Given the description of an element on the screen output the (x, y) to click on. 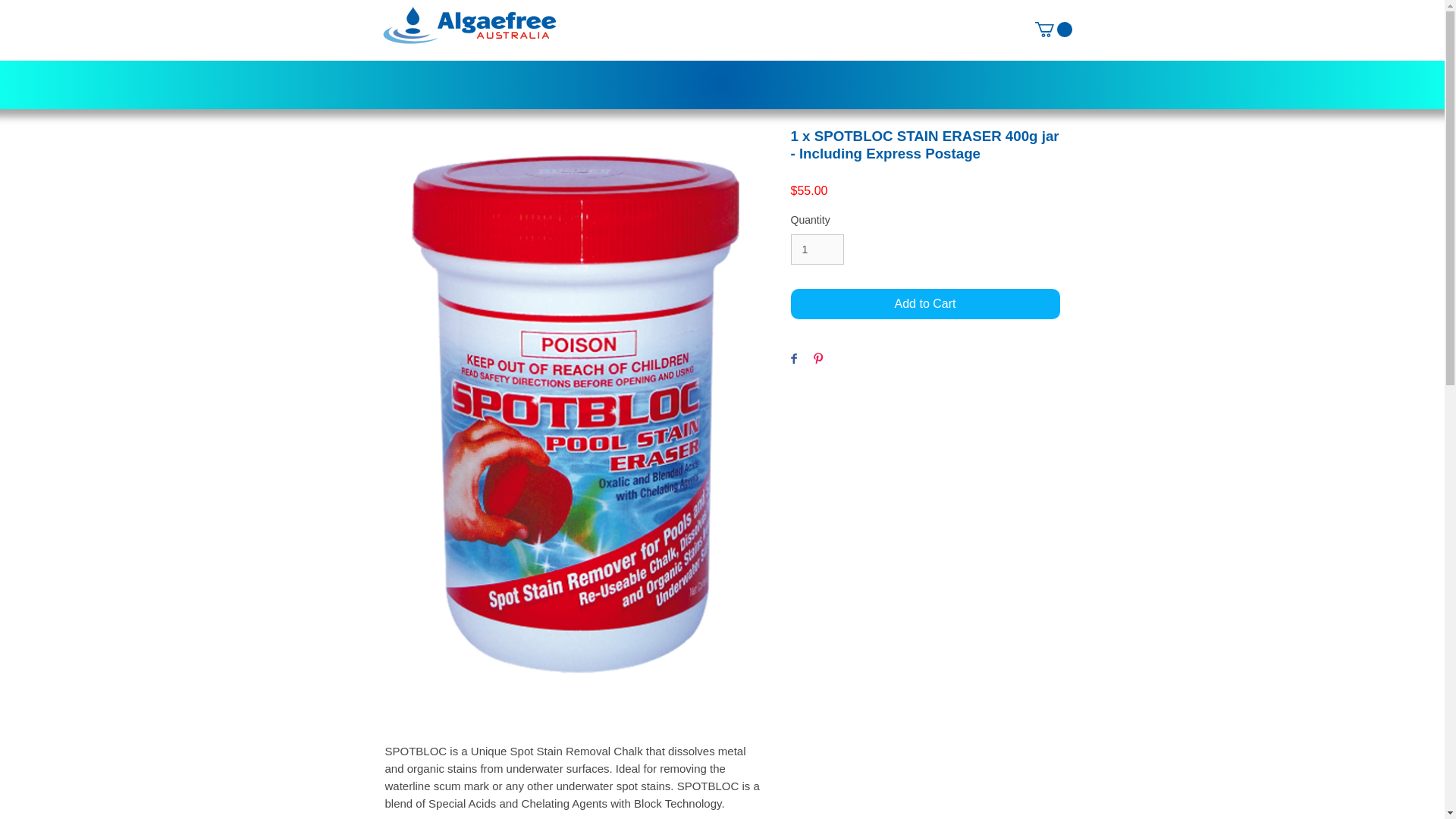
Add to Cart (924, 304)
1 (817, 249)
